Given the description of an element on the screen output the (x, y) to click on. 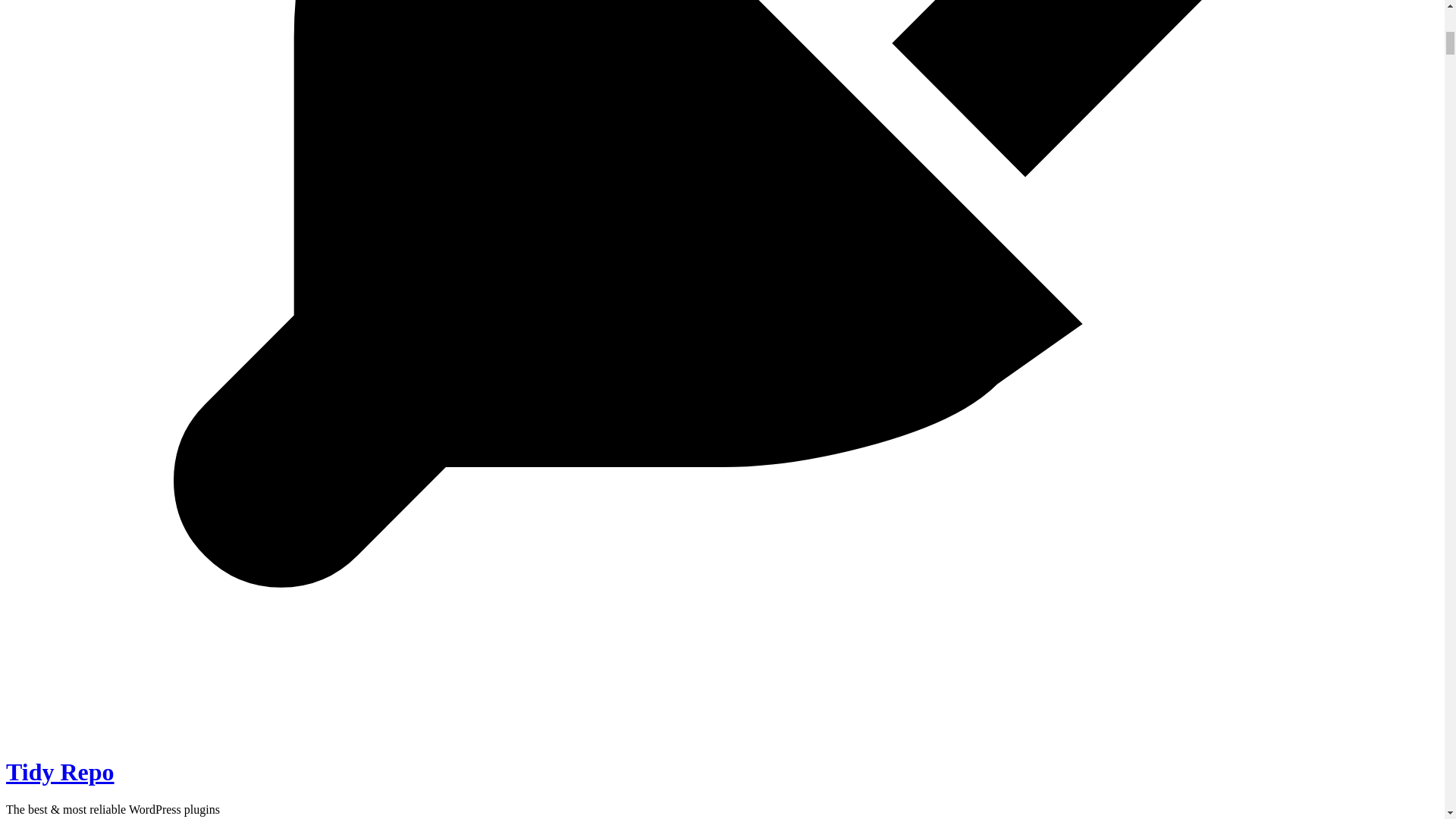
Tidy Repo (60, 771)
